Given the description of an element on the screen output the (x, y) to click on. 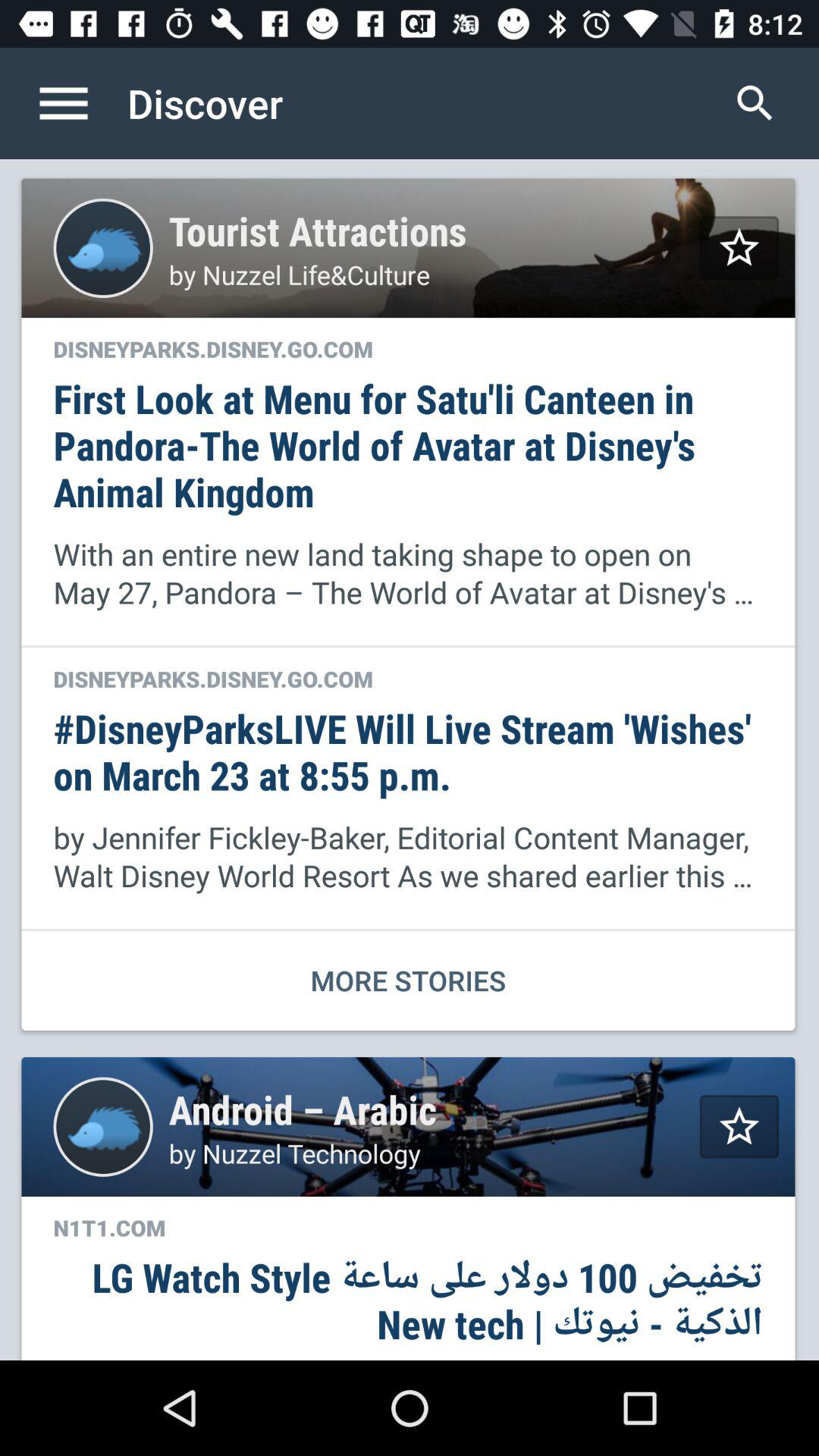
launch the item next to discover icon (755, 103)
